Given the description of an element on the screen output the (x, y) to click on. 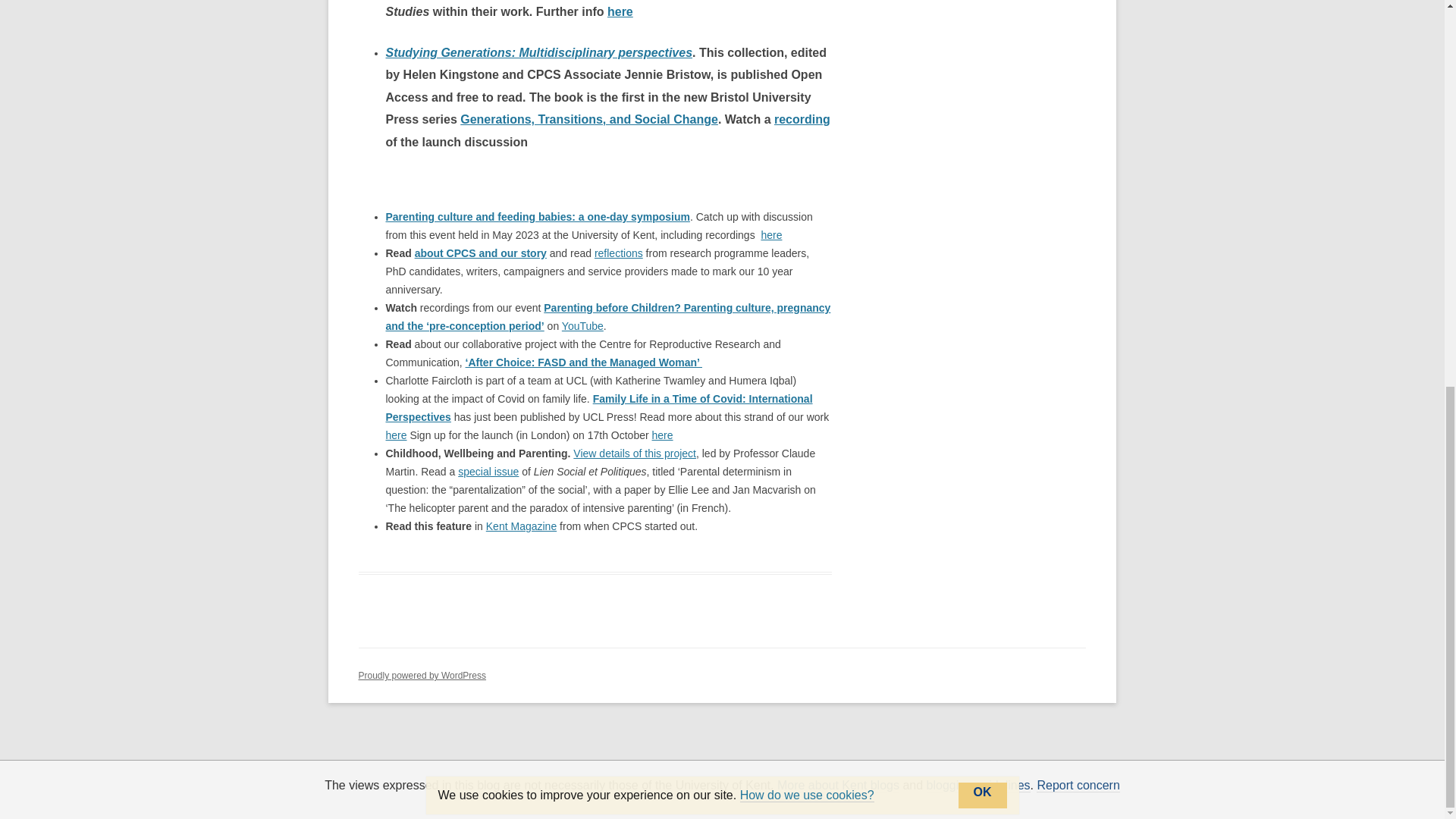
How do we use cookies? (807, 65)
Semantic Personal Publishing Platform (422, 675)
OK (982, 64)
